Given the description of an element on the screen output the (x, y) to click on. 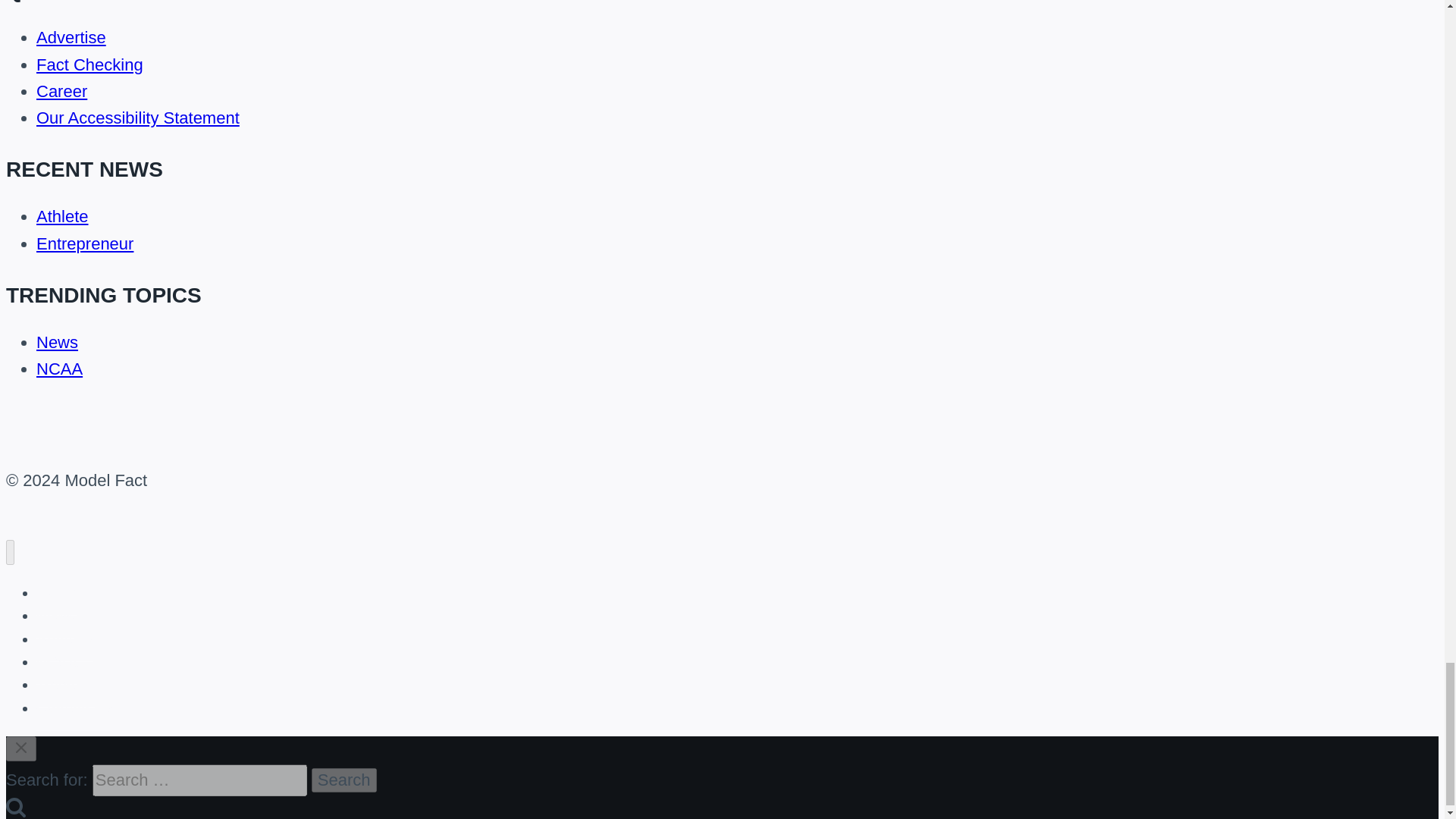
News (57, 342)
Entrepreneur (84, 243)
NCAA (59, 368)
Fact Checking (89, 64)
Search (15, 806)
Advertise (71, 36)
Our Accessibility Statement (138, 117)
Search (344, 780)
Home (56, 592)
Athlete (62, 216)
Toggle Menu Close (20, 747)
Search (344, 780)
Career (61, 90)
